Given the description of an element on the screen output the (x, y) to click on. 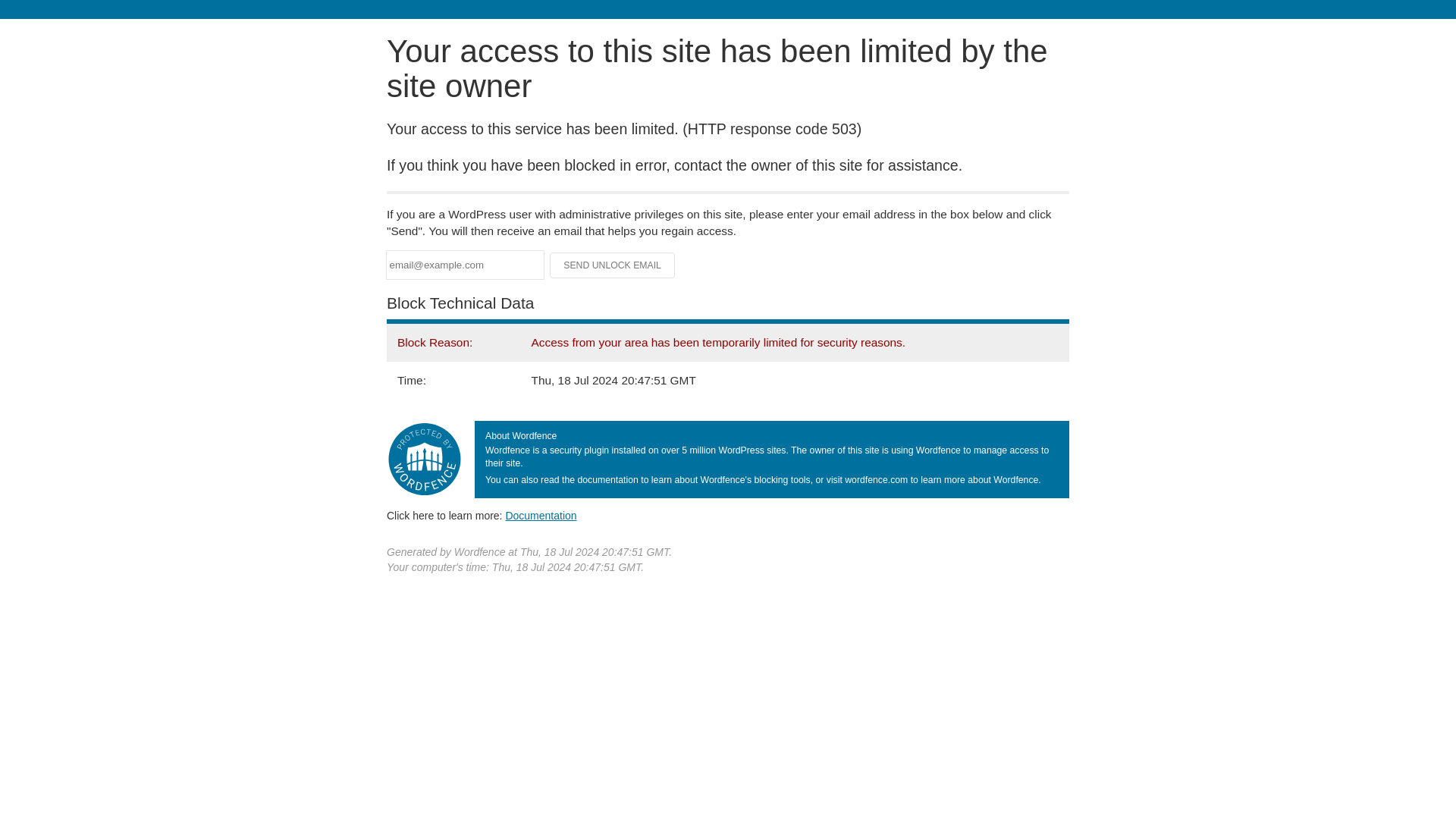
Documentation (540, 515)
Send Unlock Email (612, 265)
Send Unlock Email (612, 265)
